Given the description of an element on the screen output the (x, y) to click on. 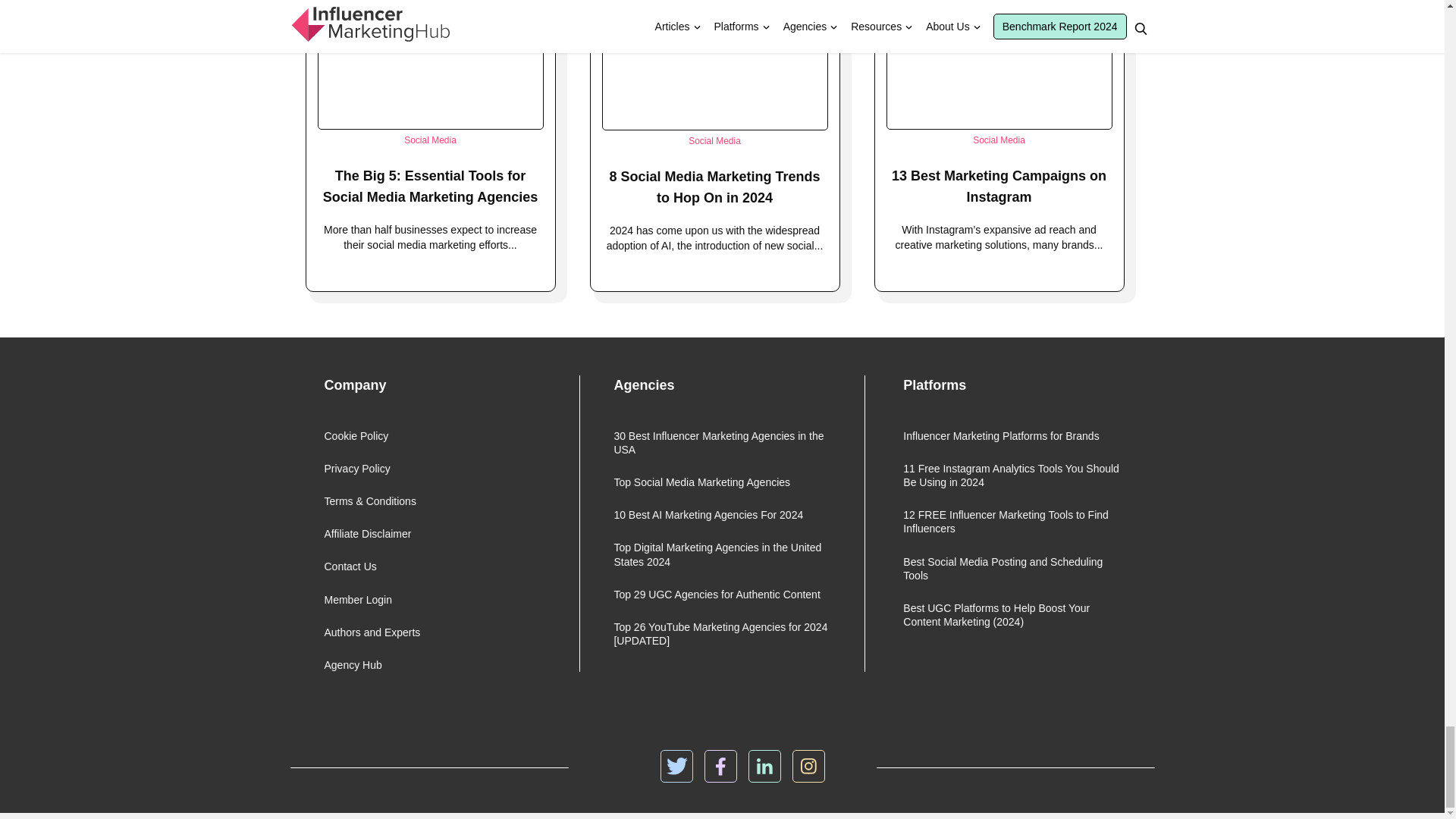
13 Best Marketing Campaigns on Instagram (998, 186)
8 Social Media Marketing Trends to Hop On in 2024 (713, 186)
